Given the description of an element on the screen output the (x, y) to click on. 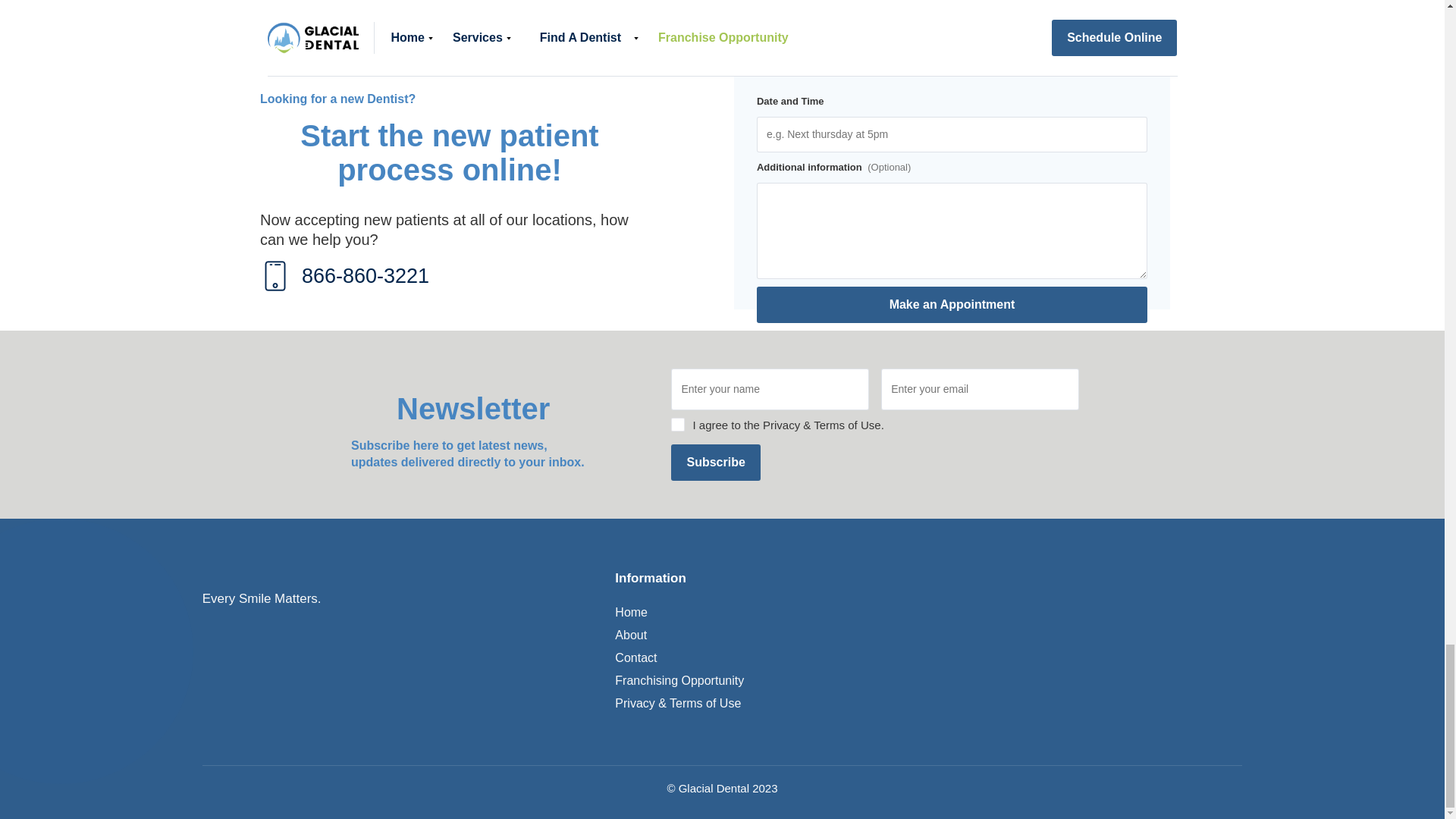
About (630, 635)
Contact (635, 658)
Make an Appointment (952, 304)
Subscribe (715, 462)
Subscribe (715, 462)
Franchising Opportunity (679, 680)
Home (630, 612)
Make an Appointment (952, 304)
